Given the description of an element on the screen output the (x, y) to click on. 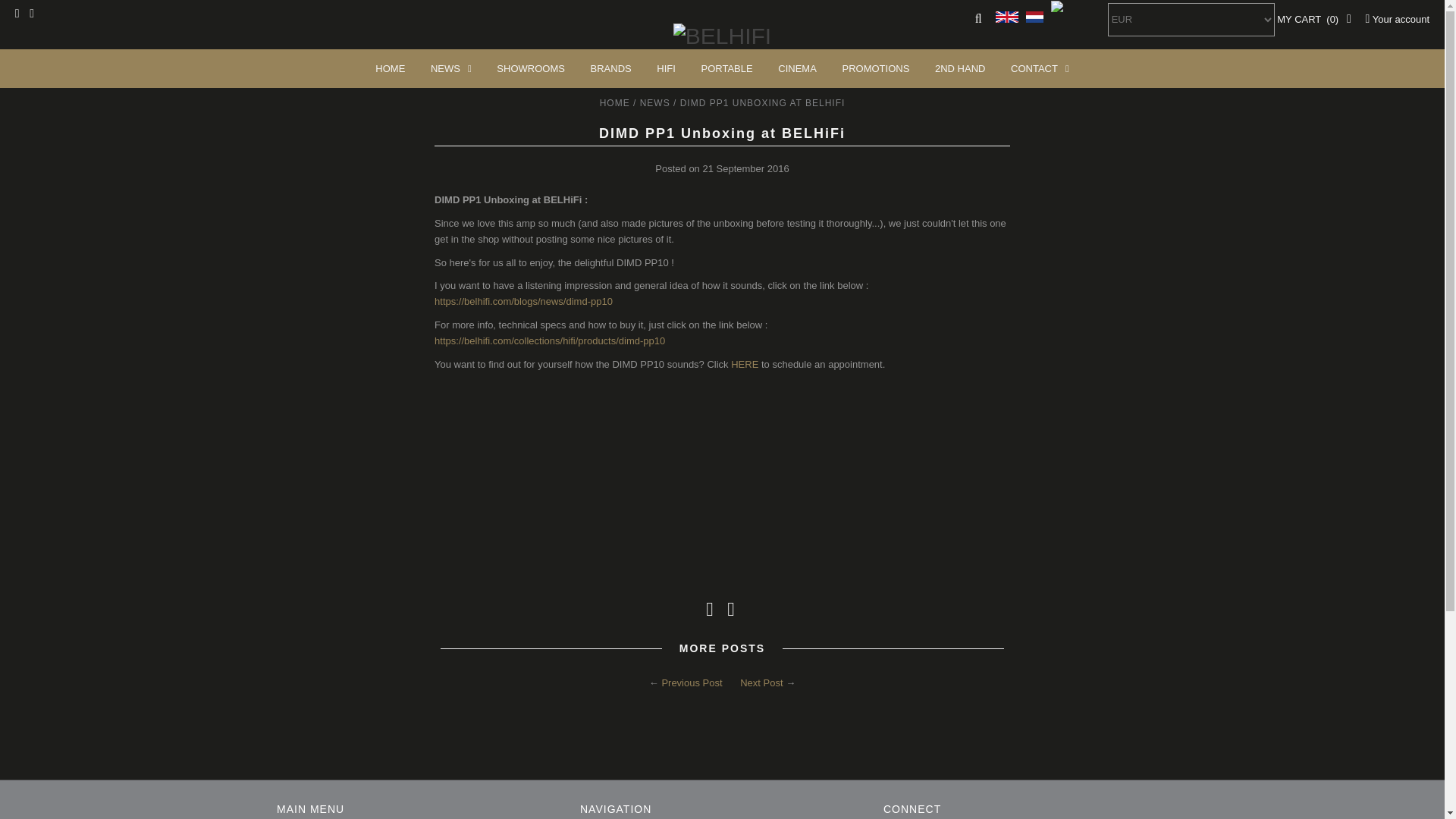
Portable (727, 68)
HIFI (666, 68)
HOME (390, 68)
Your account (1397, 19)
BRANDS (611, 68)
CINEMA (797, 68)
SHOWROOMS (530, 68)
NEWS (451, 68)
HOME (390, 68)
promotions (874, 68)
BRANDS (611, 68)
2nd hand (959, 68)
HIFI (666, 68)
SHOWROOMS (530, 68)
